Given the description of an element on the screen output the (x, y) to click on. 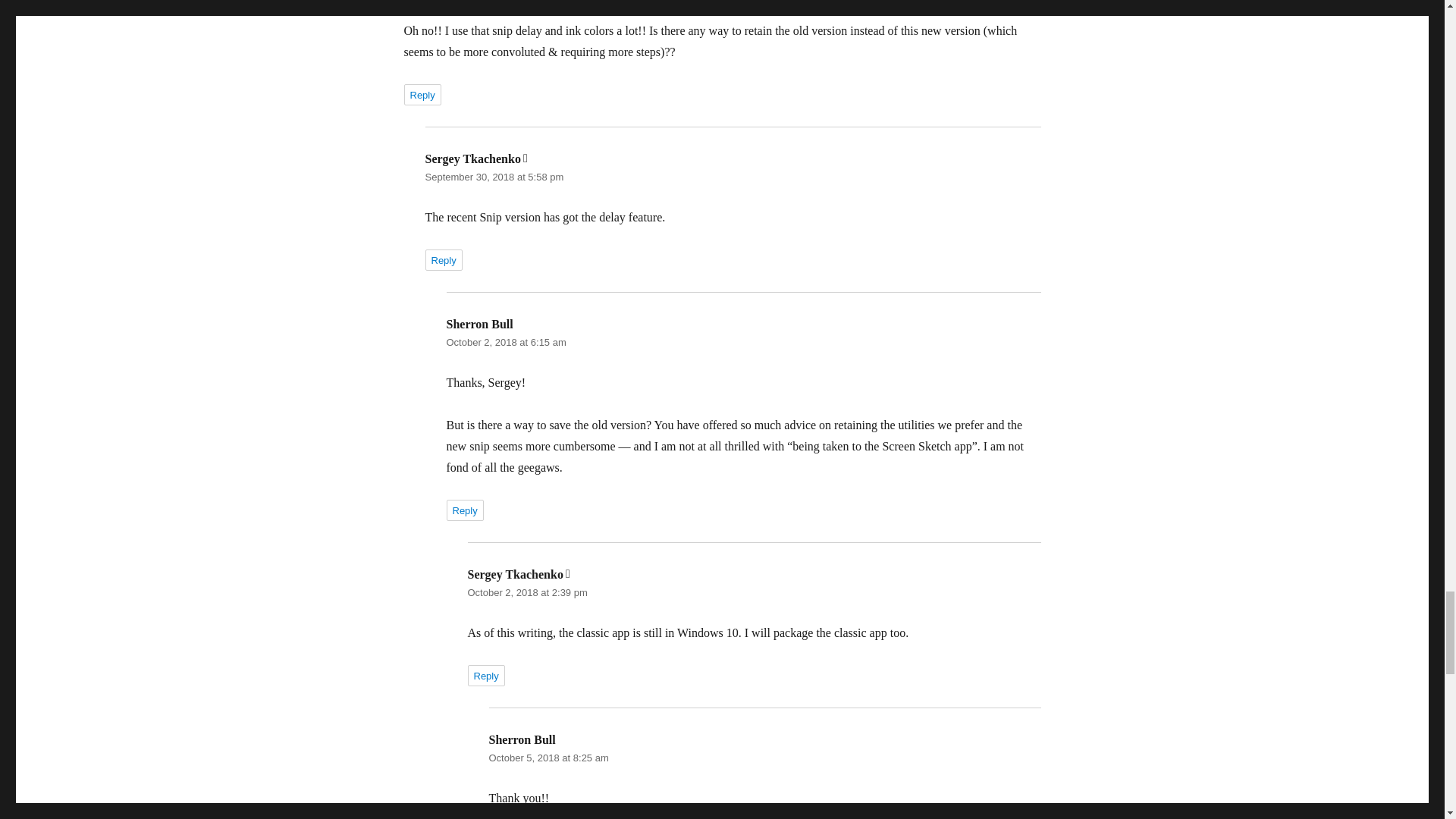
Reply (464, 509)
September 30, 2018 at 5:58 pm (494, 176)
October 2, 2018 at 2:39 pm (526, 592)
October 2, 2018 at 6:15 am (505, 342)
Reply (443, 260)
October 5, 2018 at 8:25 am (547, 757)
Reply (485, 675)
Reply (422, 94)
